Given the description of an element on the screen output the (x, y) to click on. 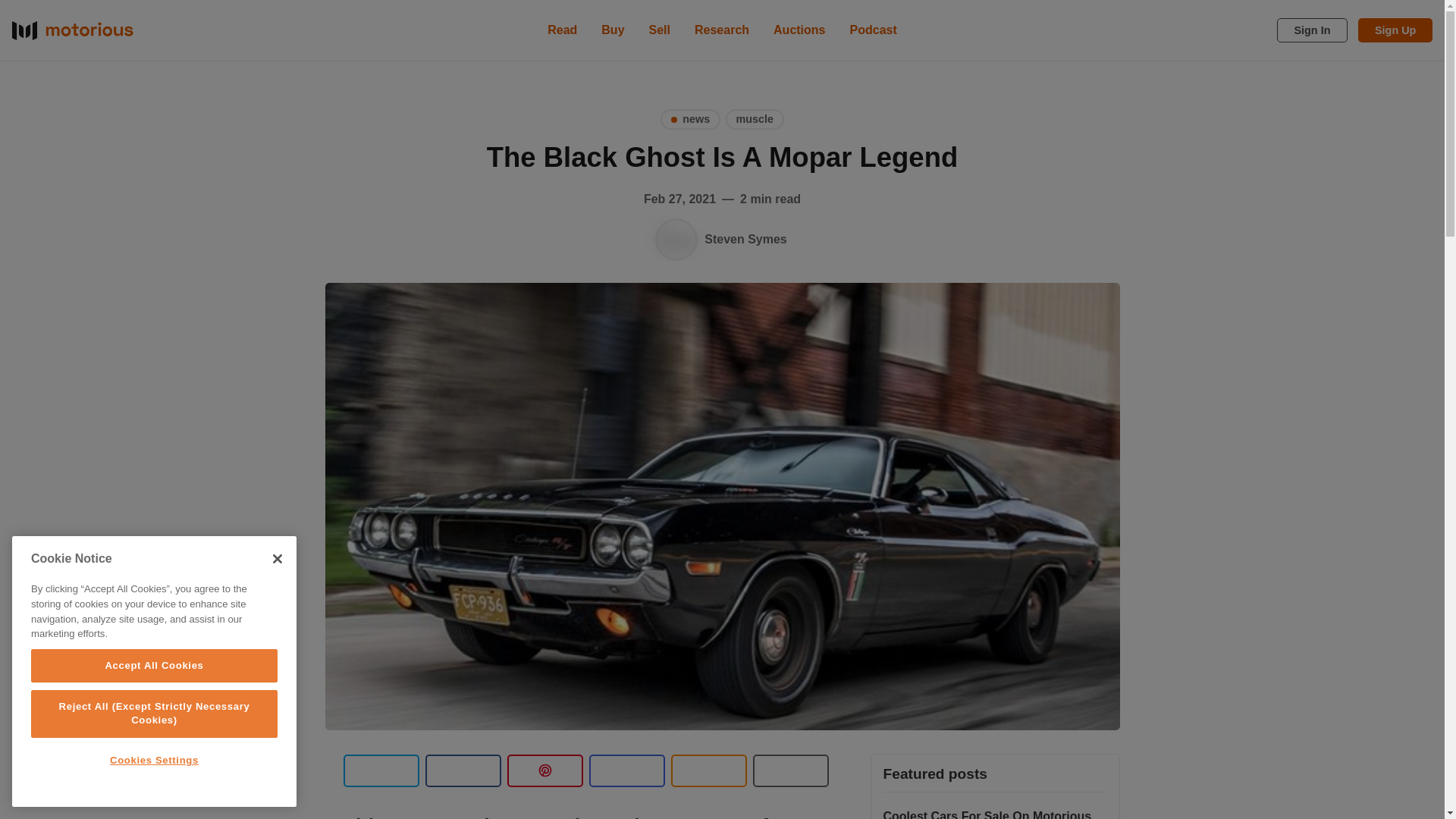
Bookmark (790, 770)
Sell (659, 29)
muscle (754, 118)
Share by email (625, 770)
muscle (754, 118)
Podcast (873, 29)
Buy (612, 29)
Steven Symes (676, 239)
Copy to clipboard (707, 770)
Research (721, 29)
